Given the description of an element on the screen output the (x, y) to click on. 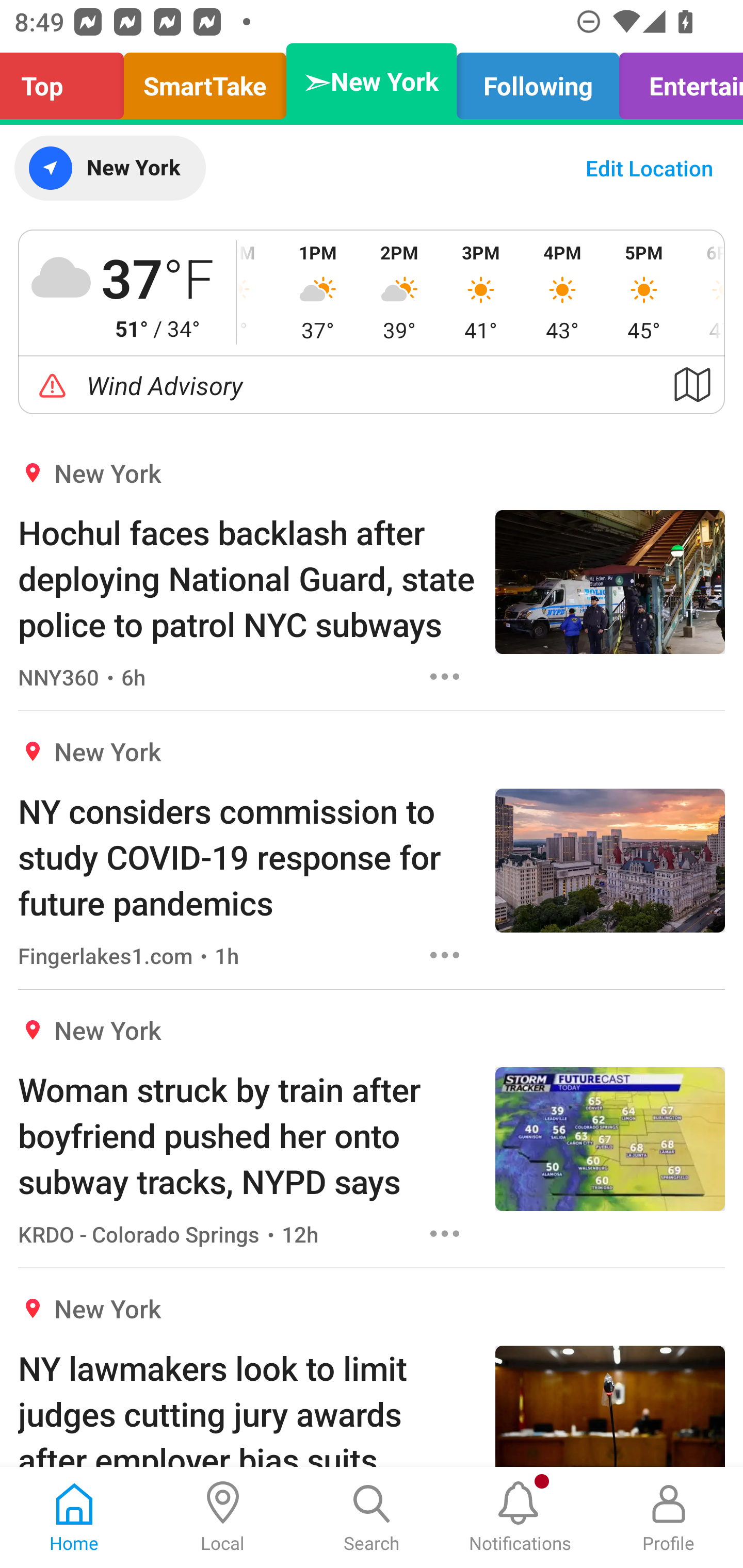
Top (67, 81)
SmartTake (204, 81)
➣New York (371, 81)
Following (537, 81)
New York (109, 168)
Edit Location (648, 168)
1PM 37° (317, 291)
2PM 39° (398, 291)
3PM 41° (480, 291)
4PM 43° (562, 291)
5PM 45° (644, 291)
Wind Advisory (371, 384)
Options (444, 676)
Options (444, 954)
Options (444, 1233)
Local (222, 1517)
Search (371, 1517)
Notifications, New notification Notifications (519, 1517)
Profile (668, 1517)
